Given the description of an element on the screen output the (x, y) to click on. 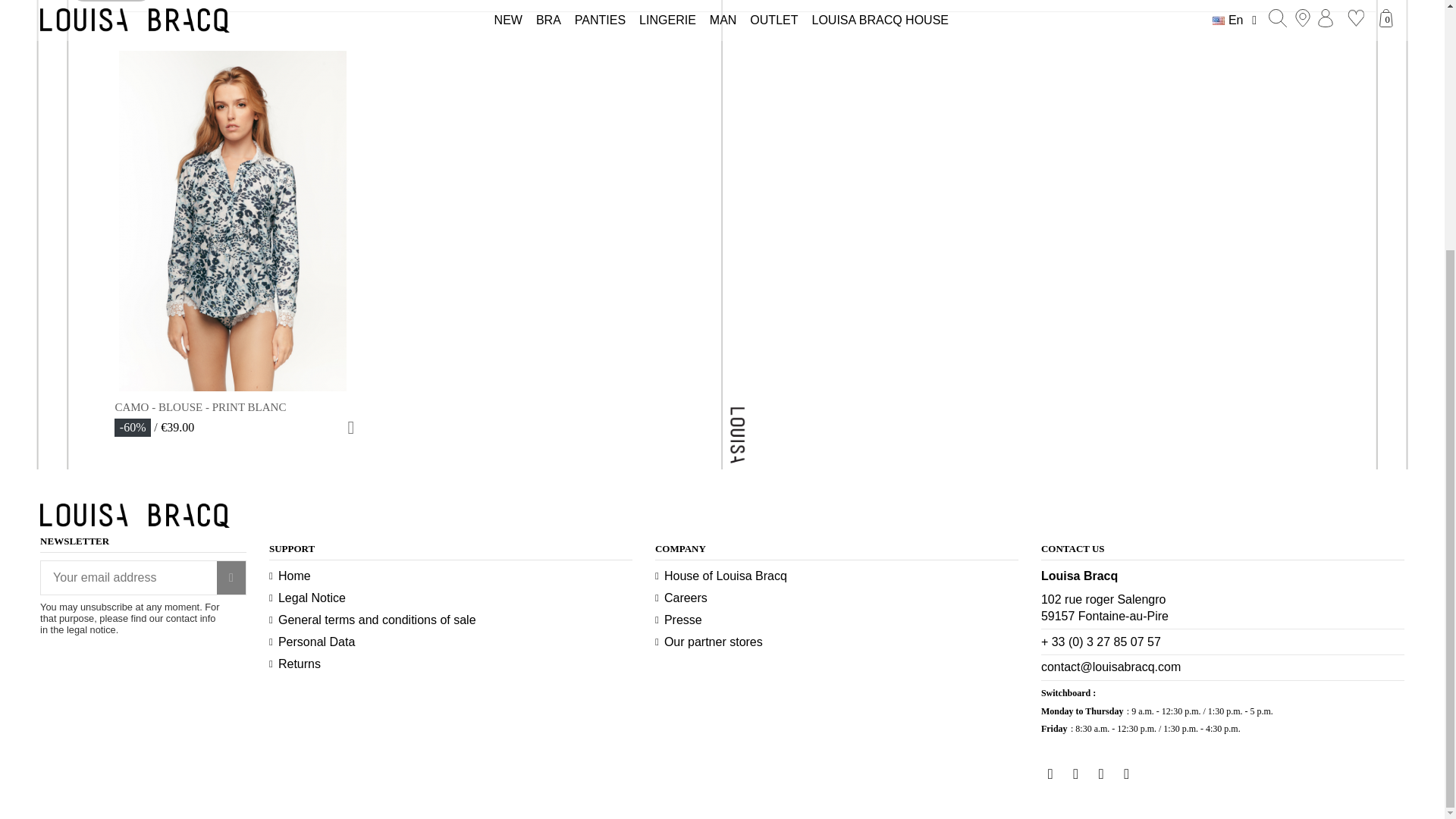
Legal Notice (307, 597)
General terms and conditions of sale (372, 619)
